Given the description of an element on the screen output the (x, y) to click on. 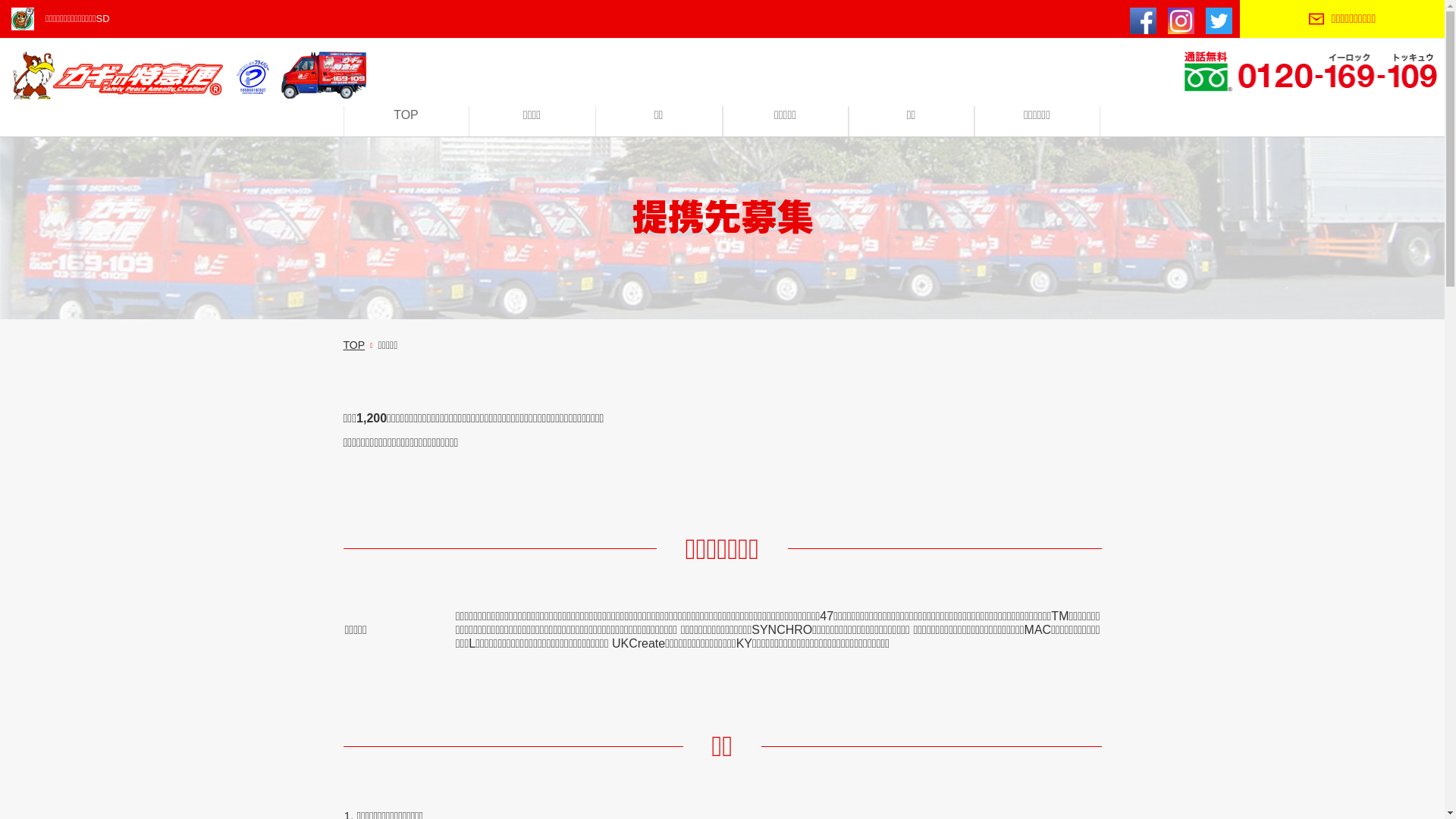
TOP Element type: text (353, 344)
